Given the description of an element on the screen output the (x, y) to click on. 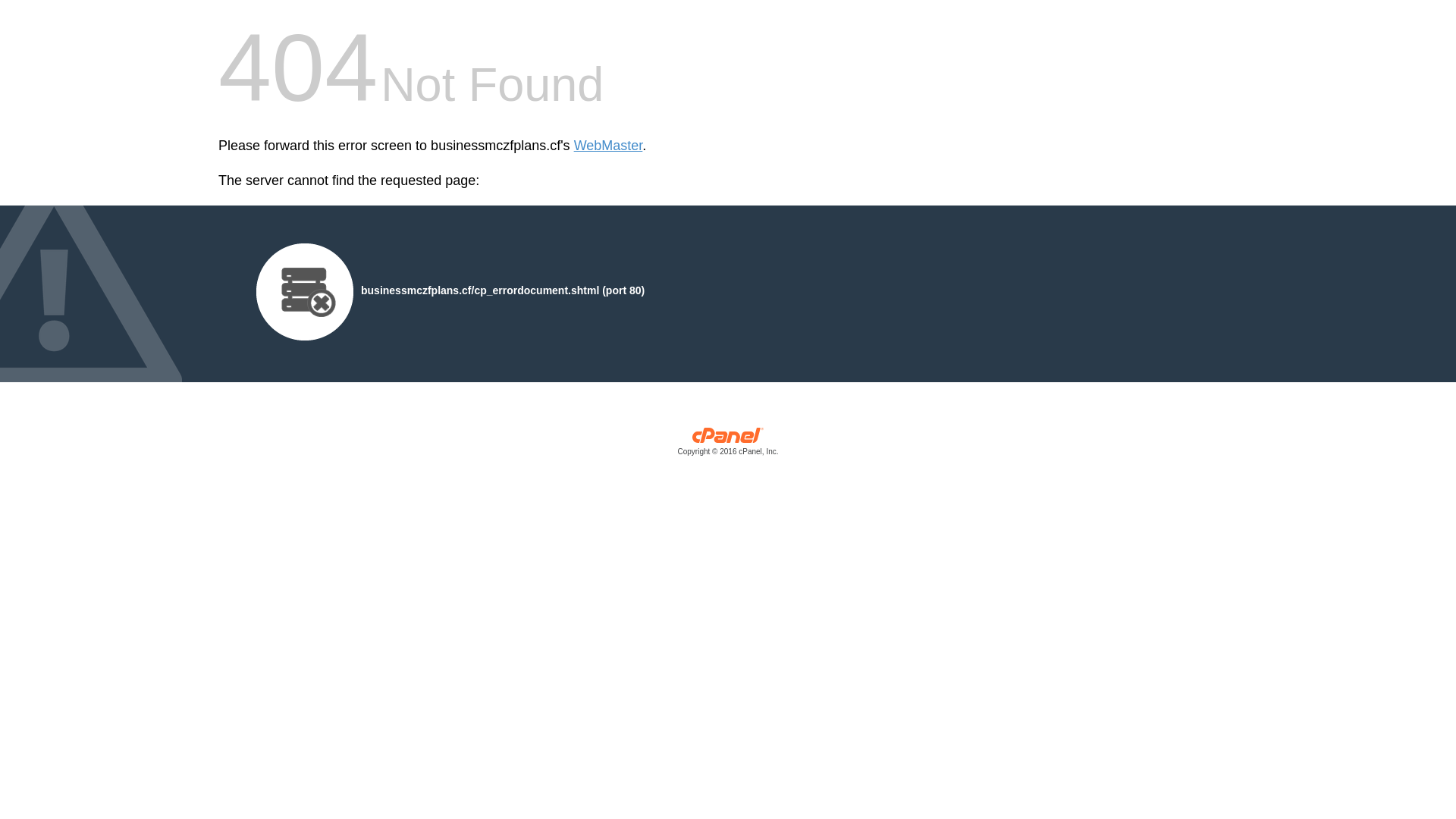
WebMaster Element type: text (608, 145)
